Given the description of an element on the screen output the (x, y) to click on. 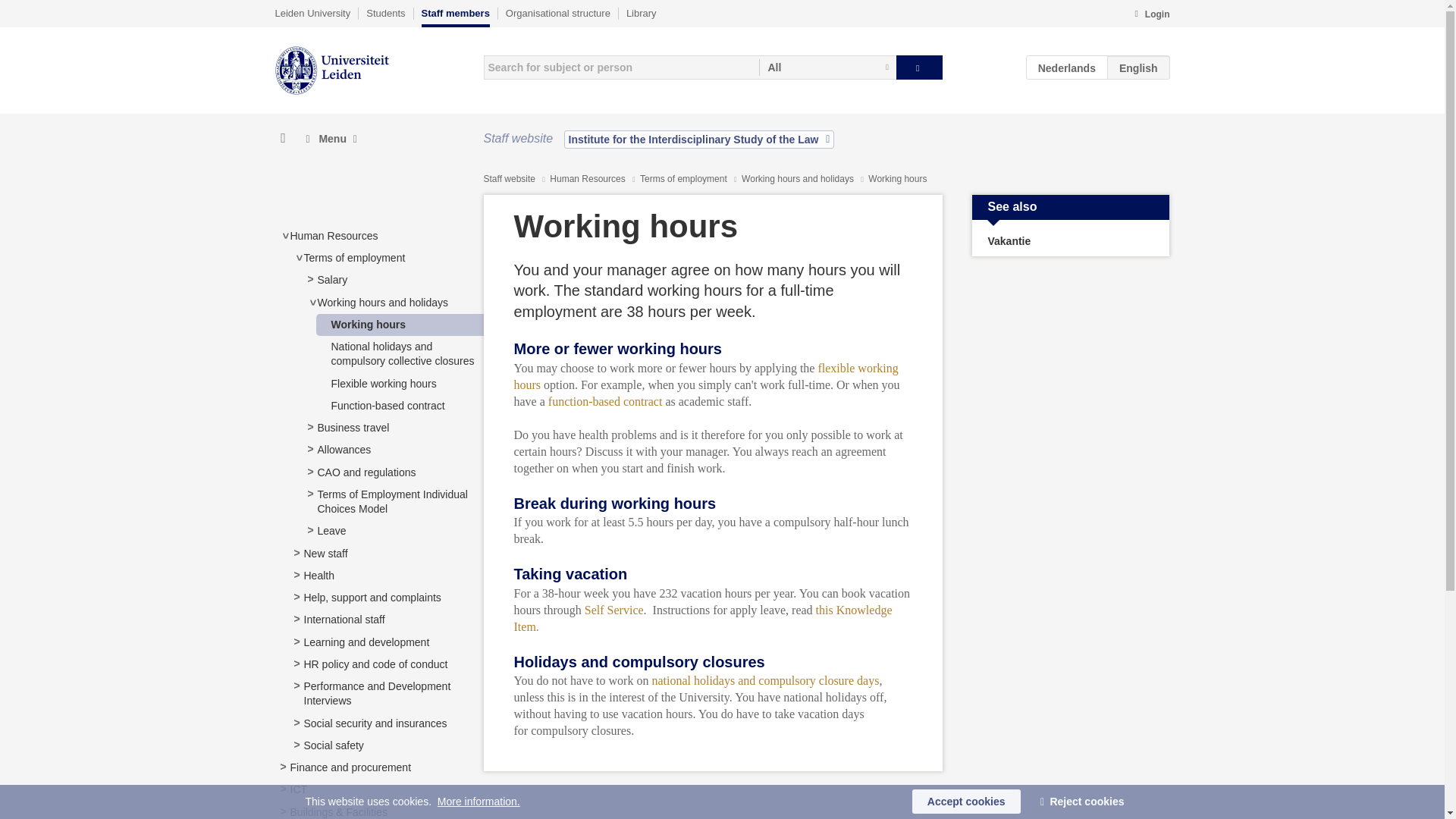
Staff members (455, 17)
Organisational structure (557, 13)
Menu (330, 139)
Students (385, 13)
Business travel (352, 427)
NL (1067, 67)
Human Resources (333, 235)
Terms of employment (353, 257)
Leiden University (312, 13)
Working hours and holidays (382, 302)
Function-based contract (387, 405)
All (827, 67)
Search (919, 67)
Salary (332, 279)
Library (641, 13)
